Given the description of an element on the screen output the (x, y) to click on. 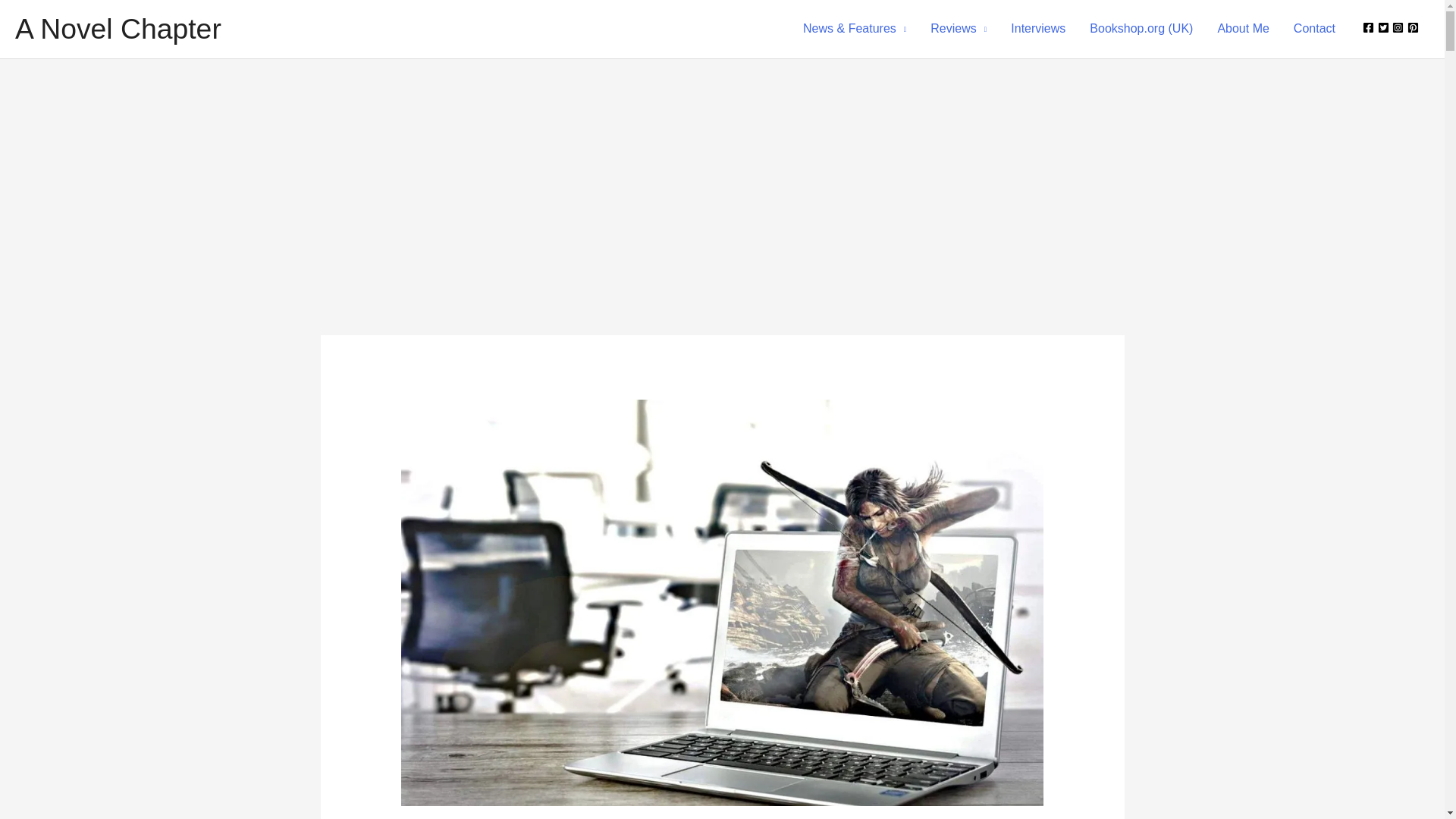
Interviews (1037, 28)
Contact (1314, 28)
Reviews (958, 28)
A Novel Chapter (117, 29)
About Me (1243, 28)
